Given the description of an element on the screen output the (x, y) to click on. 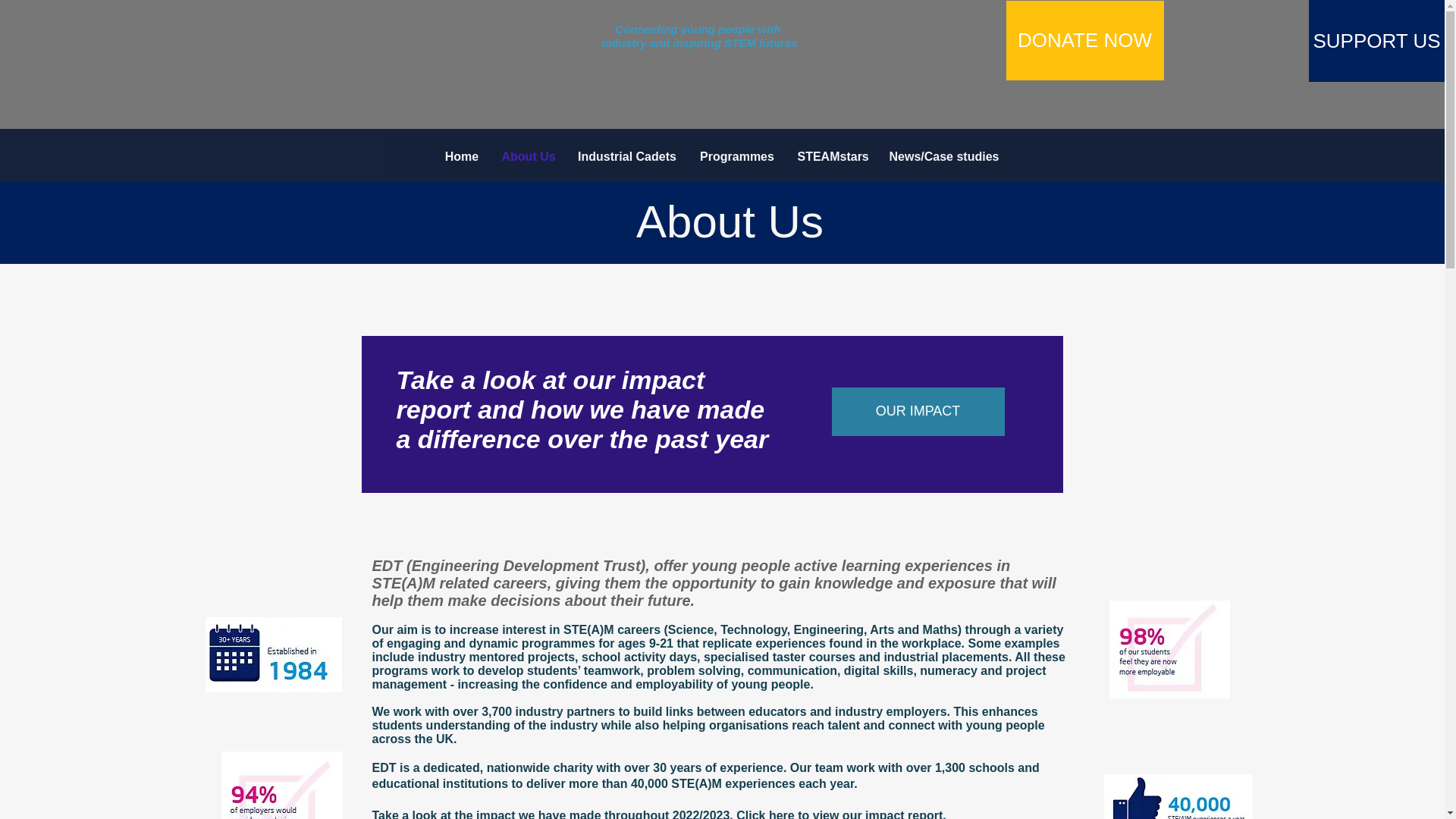
About Us (527, 156)
Home (461, 156)
STEAMstars (831, 156)
Industrial Cadets (626, 156)
Programmes (737, 156)
DONATE NOW (1084, 40)
here (781, 814)
OUR IMPACT (917, 411)
